Given the description of an element on the screen output the (x, y) to click on. 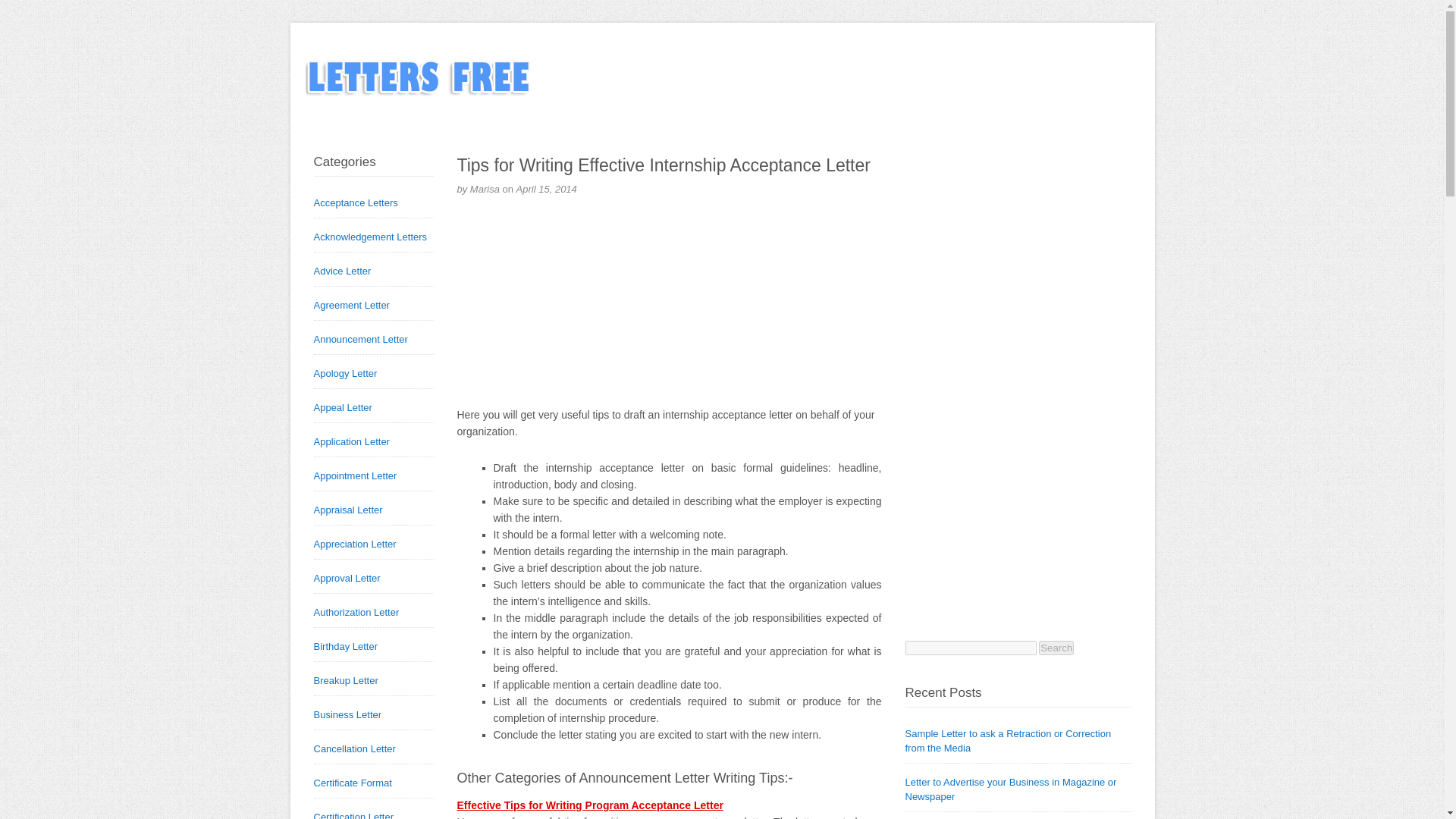
Approval Letter (347, 577)
Birthday Letter (346, 645)
Effective Tips for Writing Program Acceptance Letter (589, 805)
Acceptance Letters (355, 202)
Cancellation Letter (355, 748)
2014-04-15 (546, 188)
Appeal Letter (343, 407)
Certificate Format (352, 782)
Appreciation Letter (355, 543)
Appraisal Letter (348, 509)
